Given the description of an element on the screen output the (x, y) to click on. 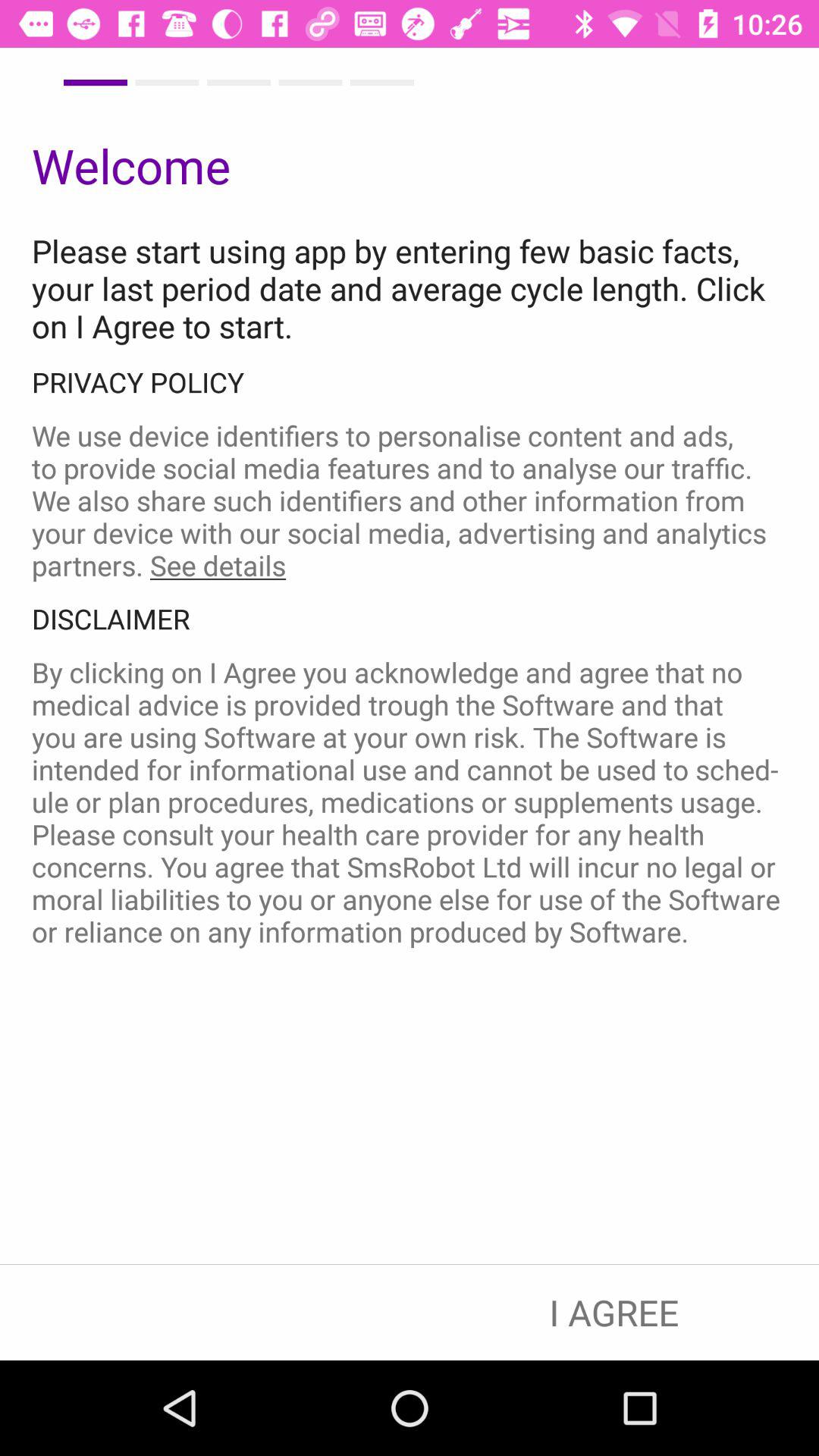
select the item below the privacy policy item (409, 500)
